Given the description of an element on the screen output the (x, y) to click on. 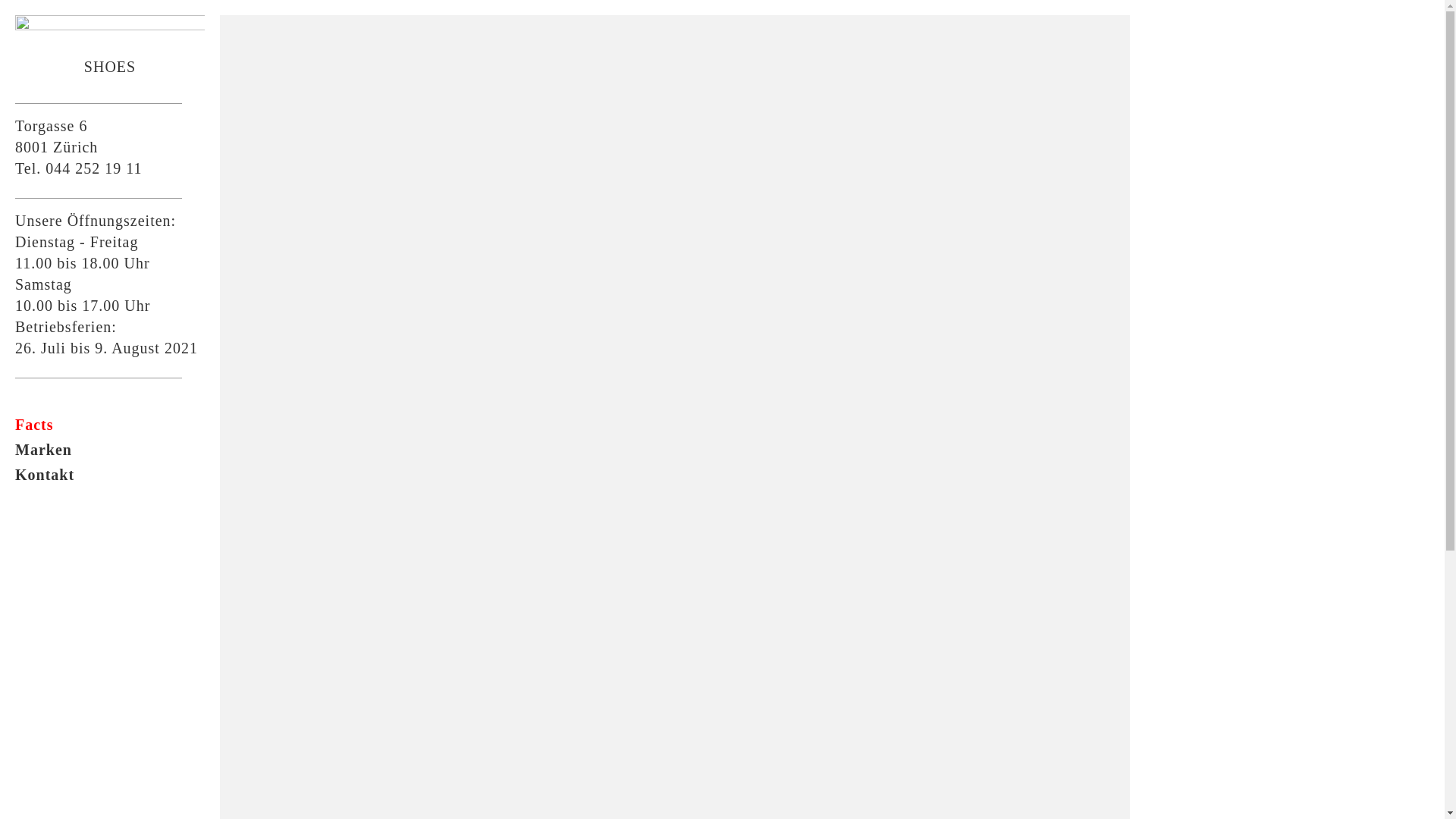
Marken Element type: text (109, 448)
Kontakt Element type: text (109, 474)
Facts Element type: text (109, 424)
